Given the description of an element on the screen output the (x, y) to click on. 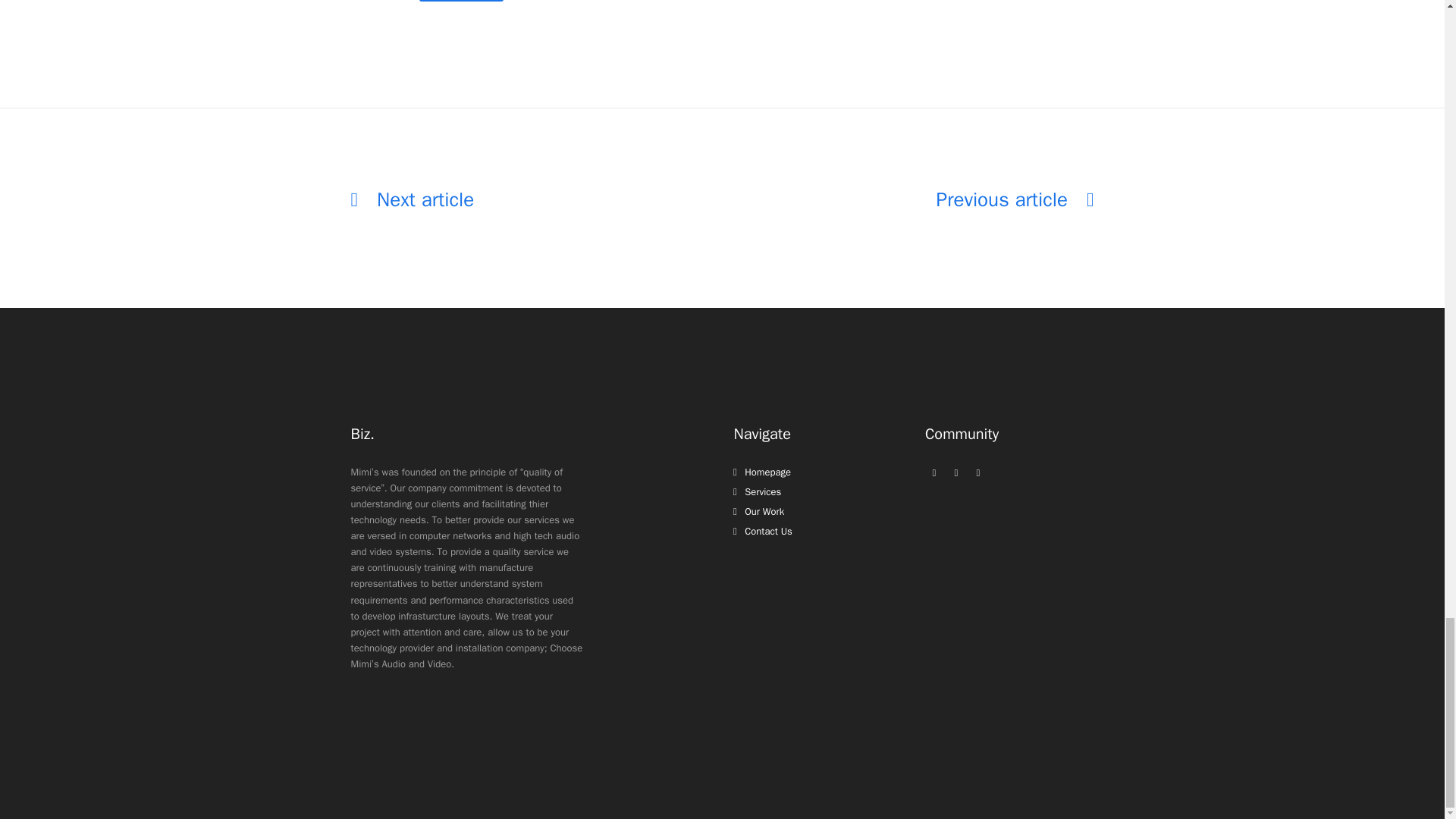
Homepage (762, 530)
Post Comment (461, 0)
Facebook (933, 473)
Next article (412, 200)
Homepage (761, 472)
Contact Us (762, 530)
Previous article (1015, 200)
LinkedIn (956, 473)
Twitter (978, 473)
Facebook (933, 473)
